Given the description of an element on the screen output the (x, y) to click on. 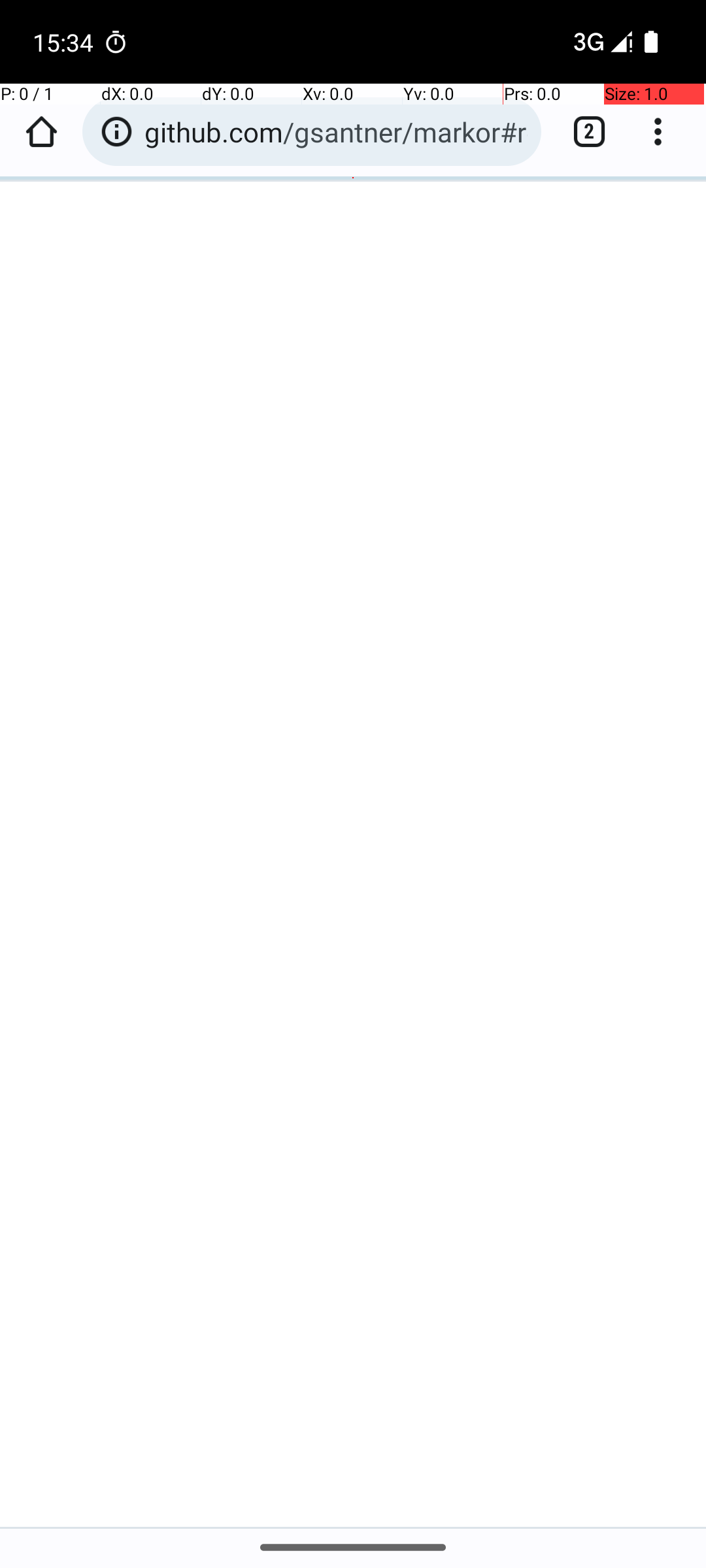
github.com/gsantner/markor#readme Element type: android.widget.EditText (335, 131)
